Given the description of an element on the screen output the (x, y) to click on. 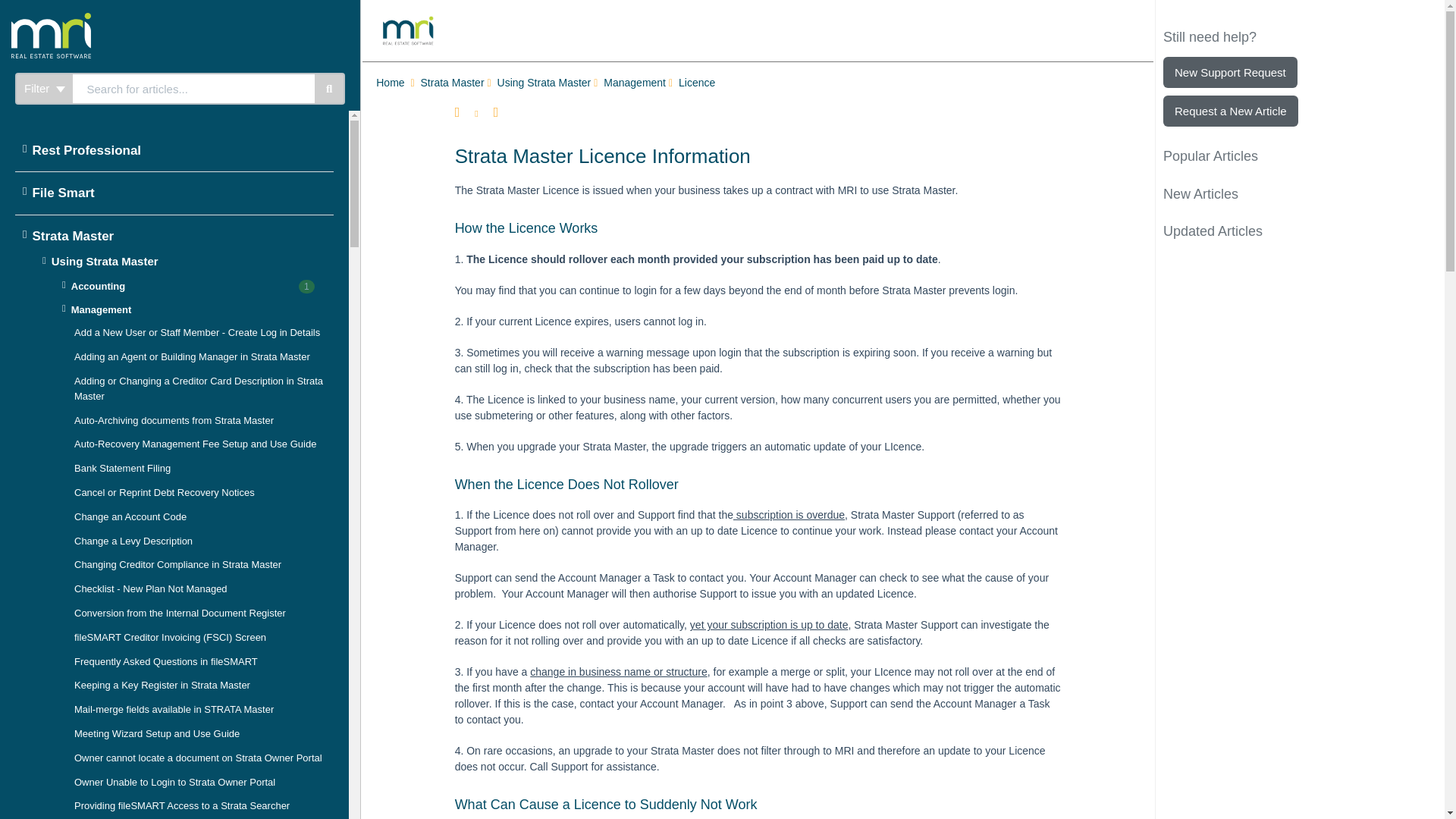
Search (329, 88)
Using Strata Master  (545, 83)
Strata Master (453, 83)
Refine search (43, 88)
Search (192, 88)
Management (636, 83)
Filter (43, 88)
Licence (697, 83)
Your site (109, 18)
Rest Professional (170, 150)
